Given the description of an element on the screen output the (x, y) to click on. 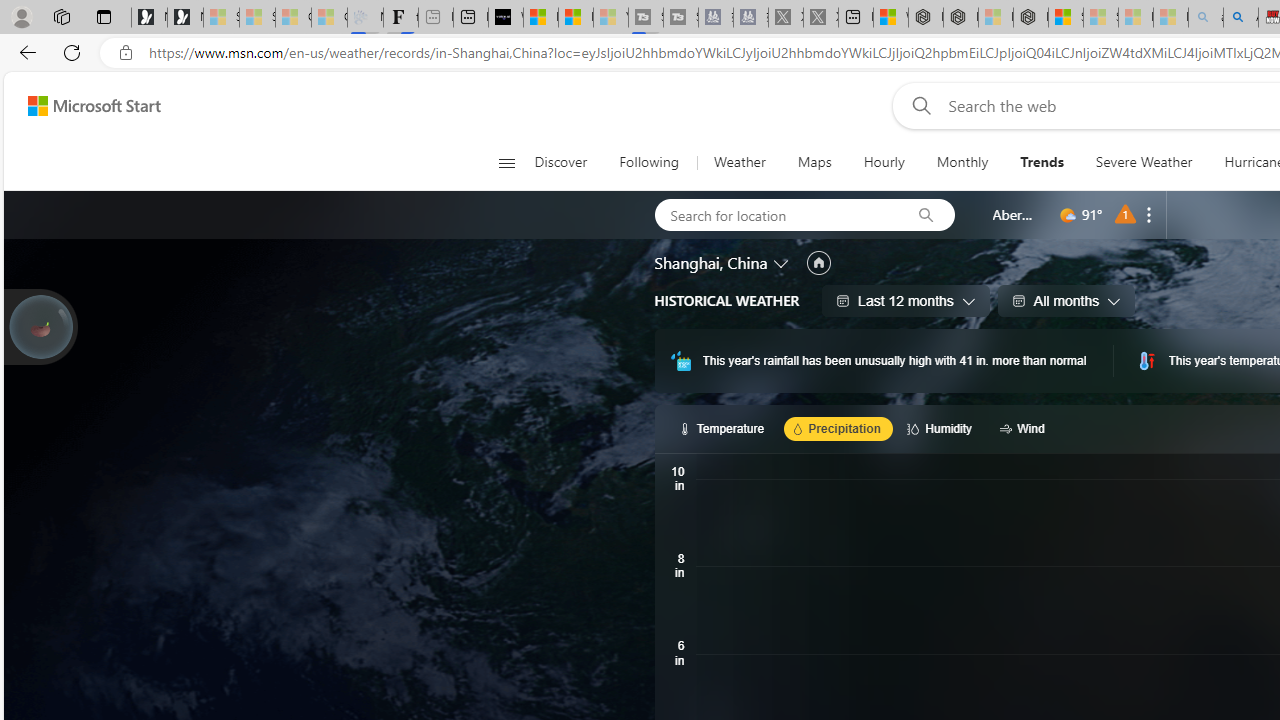
Skip to footer (82, 105)
Join us in planting real trees to help our planet! (40, 325)
Maps (813, 162)
Nordace - Nordace Siena Is Not An Ordinary Backpack (1030, 17)
Change location (782, 262)
Last 12 months (905, 300)
Trends (1041, 162)
